Given the description of an element on the screen output the (x, y) to click on. 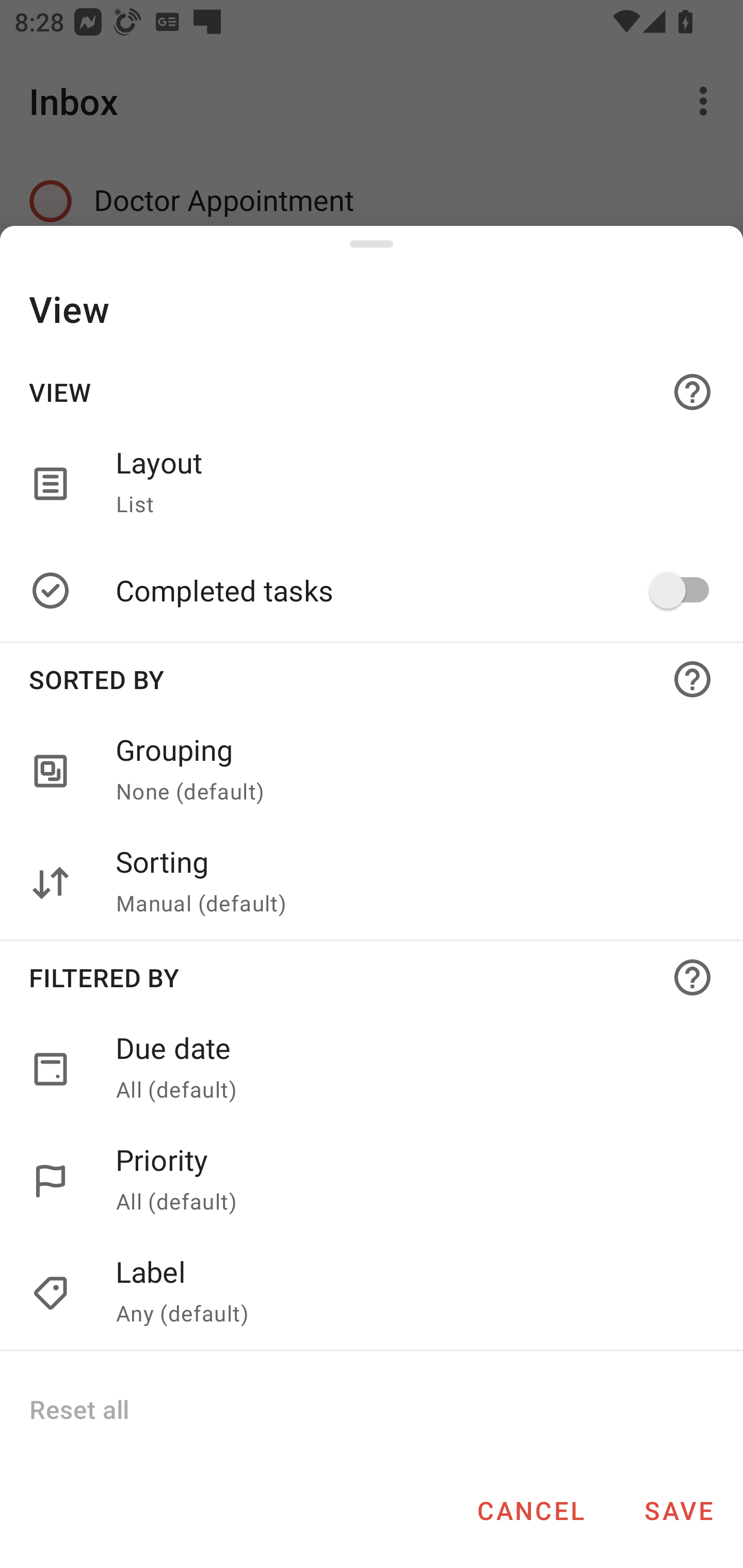
Layout List (371, 483)
Layout List (407, 483)
Completed tasks (407, 590)
SORTED BY (371, 678)
Grouping None (default) (371, 771)
Grouping None (default) (407, 771)
Sorting Manual (default) (371, 883)
Sorting Manual (default) (407, 883)
FILTERED BY (371, 976)
Due date All (default) (371, 1068)
Due date All (default) (407, 1068)
Priority All (default) (371, 1181)
Priority All (default) (407, 1181)
Label Any (default) (371, 1293)
Label Any (default) (407, 1293)
Reset all (78, 1408)
CANCEL (530, 1510)
SAVE (678, 1510)
